Given the description of an element on the screen output the (x, y) to click on. 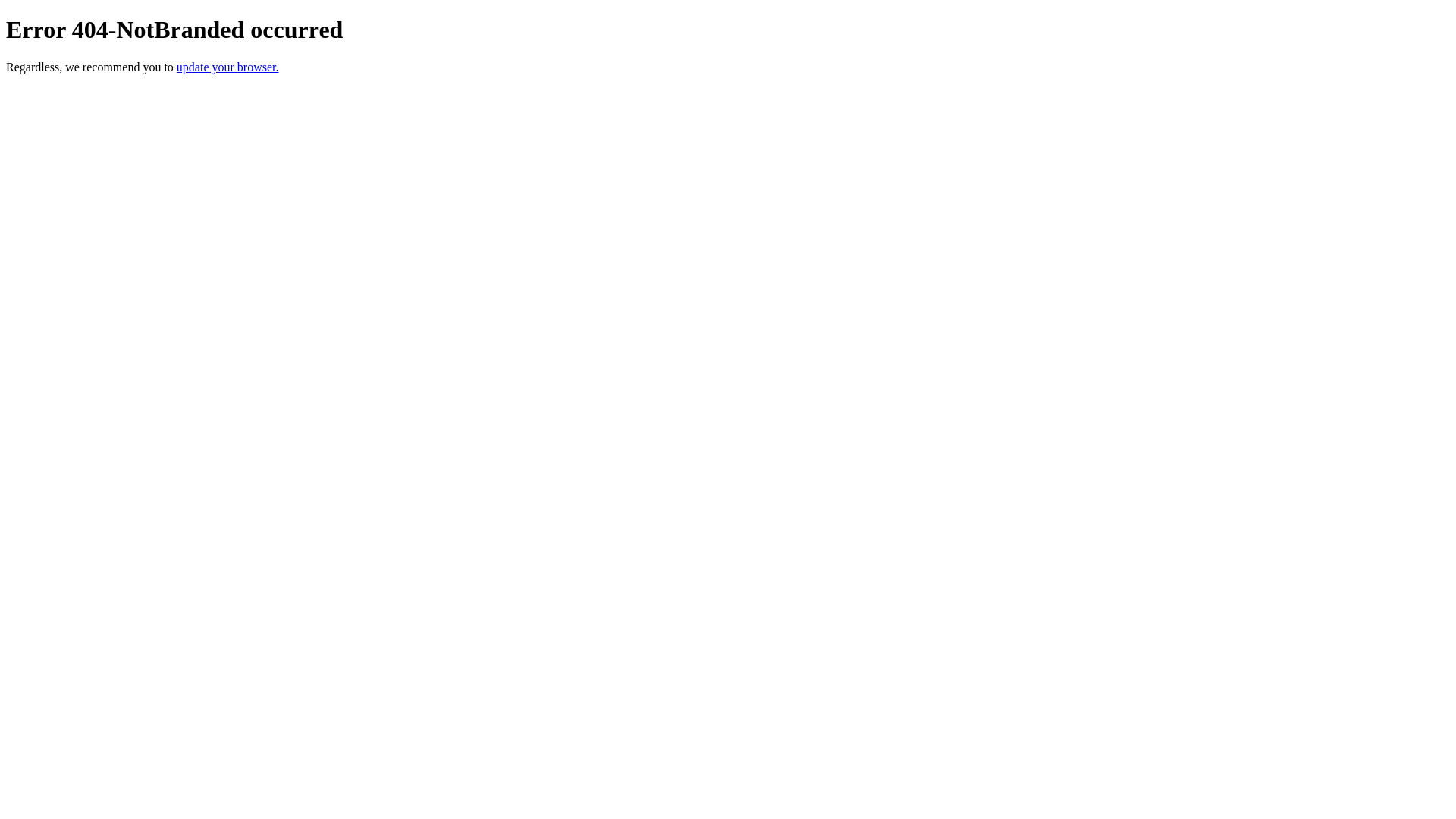
update your browser. Element type: text (227, 66)
